Given the description of an element on the screen output the (x, y) to click on. 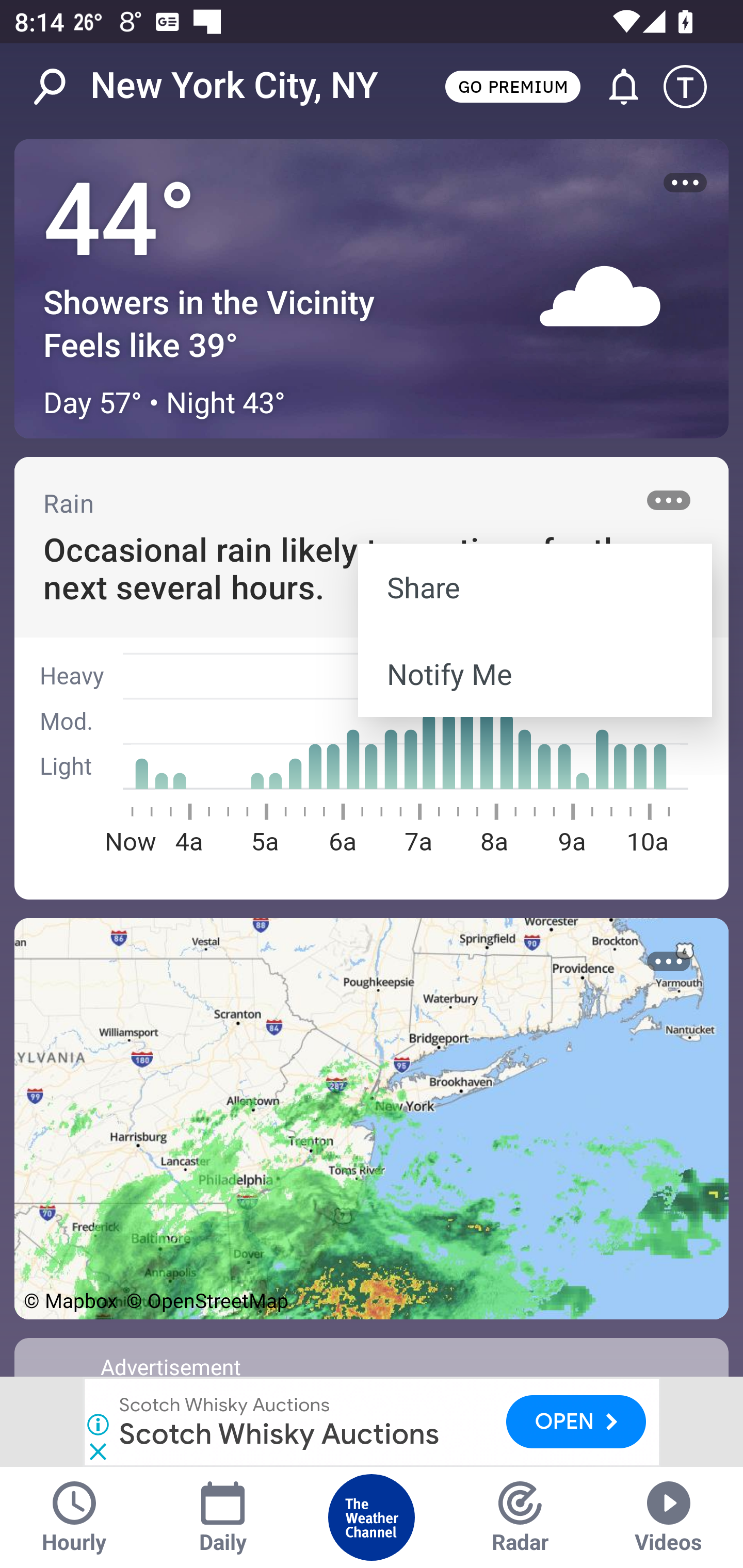
Share (534, 587)
Notify Me (534, 673)
